Given the description of an element on the screen output the (x, y) to click on. 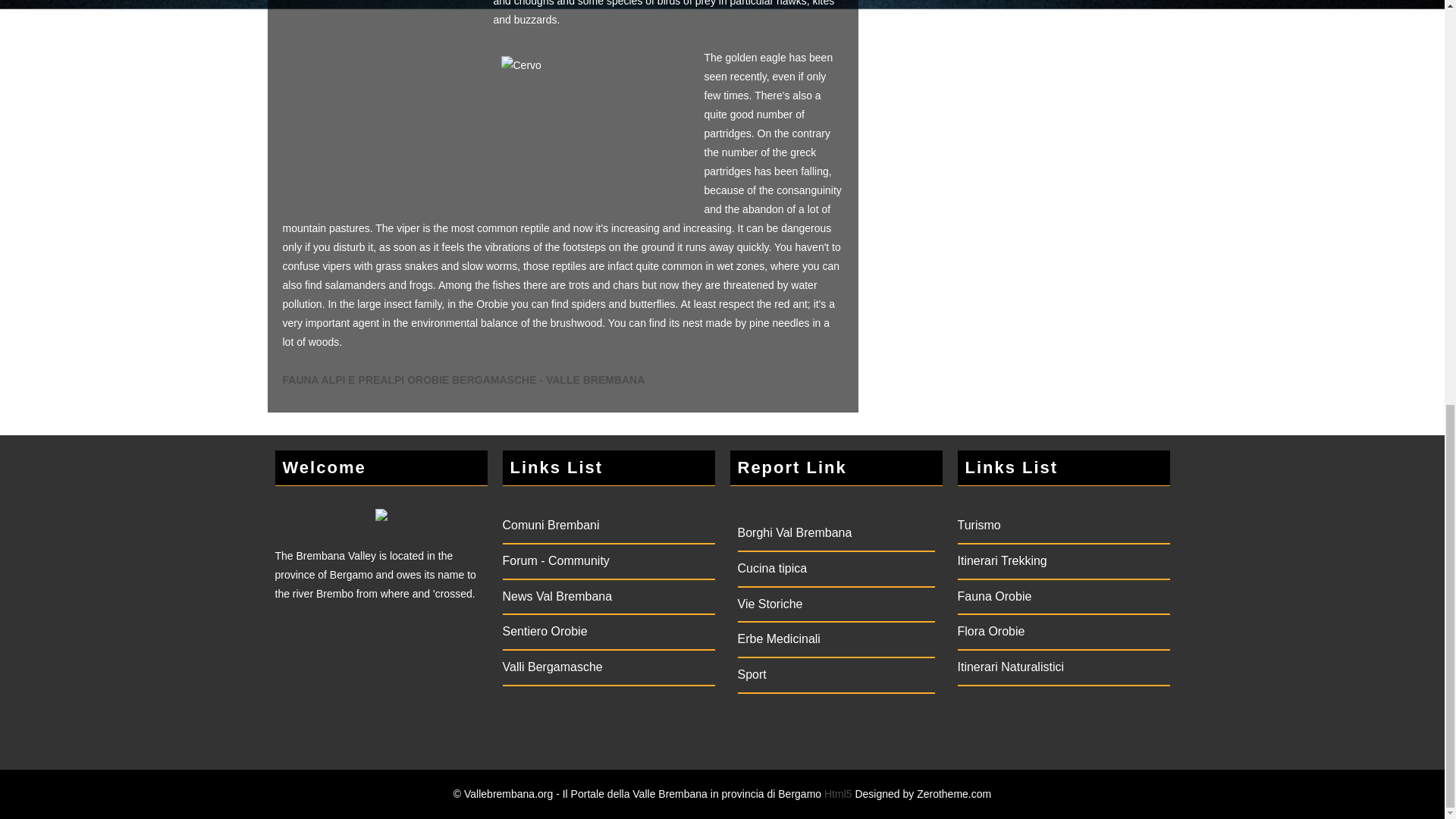
Erbe Medicinali (777, 638)
News Val Brembana (556, 595)
Sport (750, 674)
Sentiero Orobie (544, 631)
Vie Storiche (769, 603)
FAUNA ALPI E PREALPI OROBIE BERGAMASCHE - VALLE BREMBANA (463, 379)
Borghi Val Brembana (793, 532)
Valli Bergamasche (552, 666)
Comuni Brembani (550, 524)
Forum - Community (555, 560)
